Given the description of an element on the screen output the (x, y) to click on. 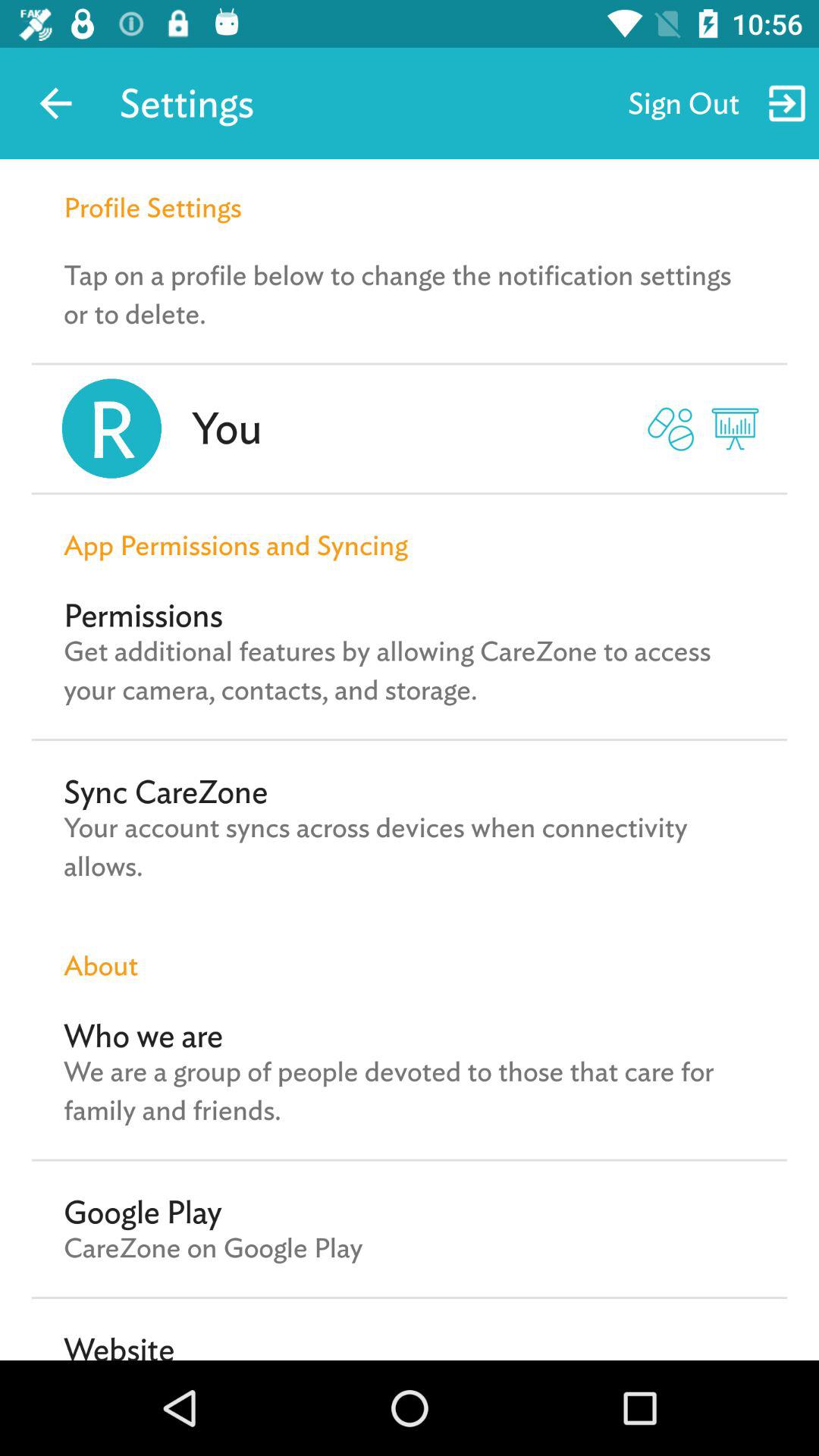
click icon above your account syncs item (165, 791)
